Given the description of an element on the screen output the (x, y) to click on. 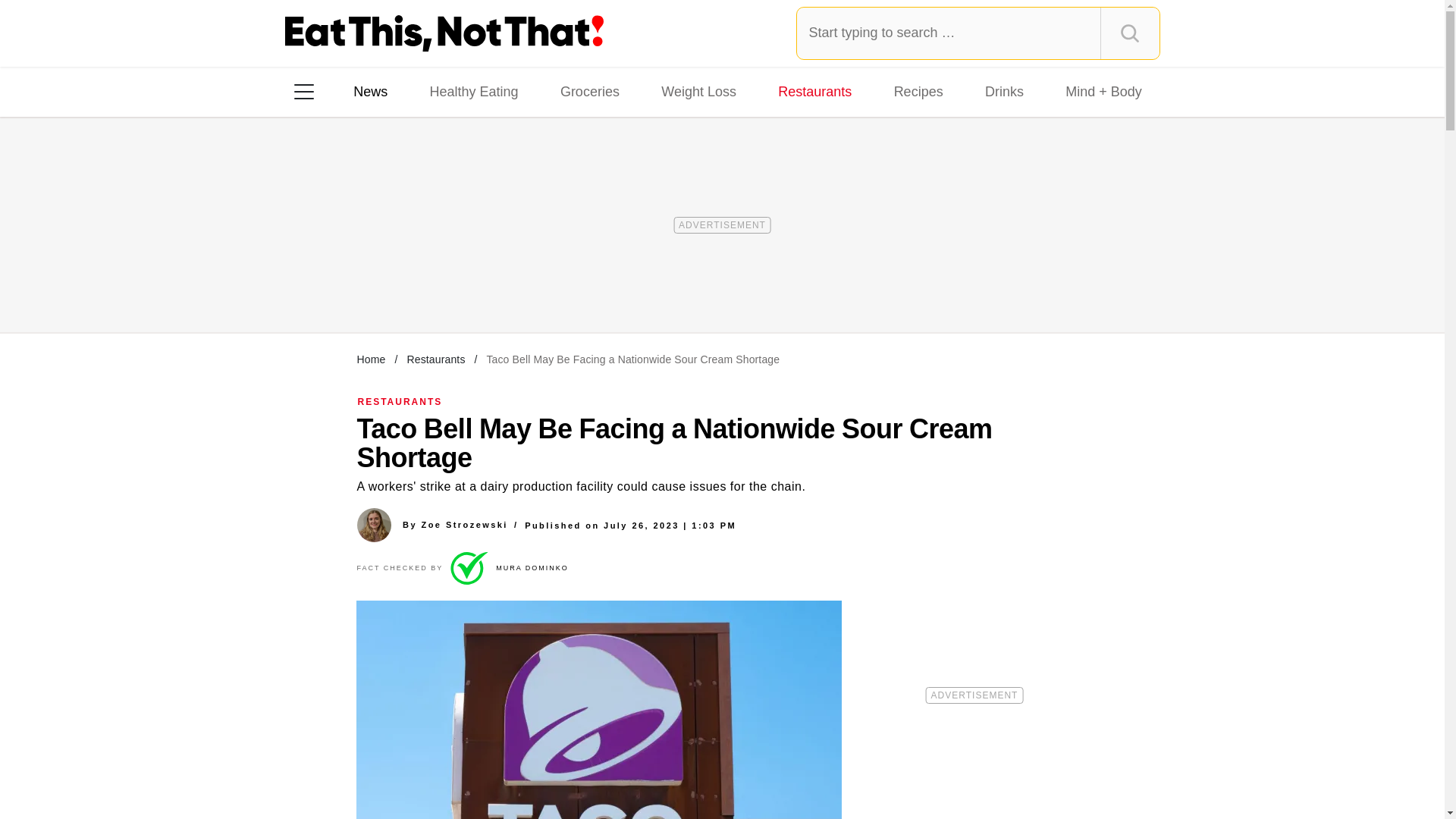
RESTAURANTS (400, 401)
Weight Loss (698, 91)
Restaurants (435, 358)
Pinterest (443, 287)
Restaurants (814, 91)
Pinterest (443, 287)
Drinks (1003, 91)
Type and press Enter to search (978, 32)
Facebook (314, 287)
Recipes (918, 91)
Instagram (357, 287)
Healthy Eating (473, 91)
Instagram (357, 287)
Home (370, 358)
TikTok (399, 287)
